Given the description of an element on the screen output the (x, y) to click on. 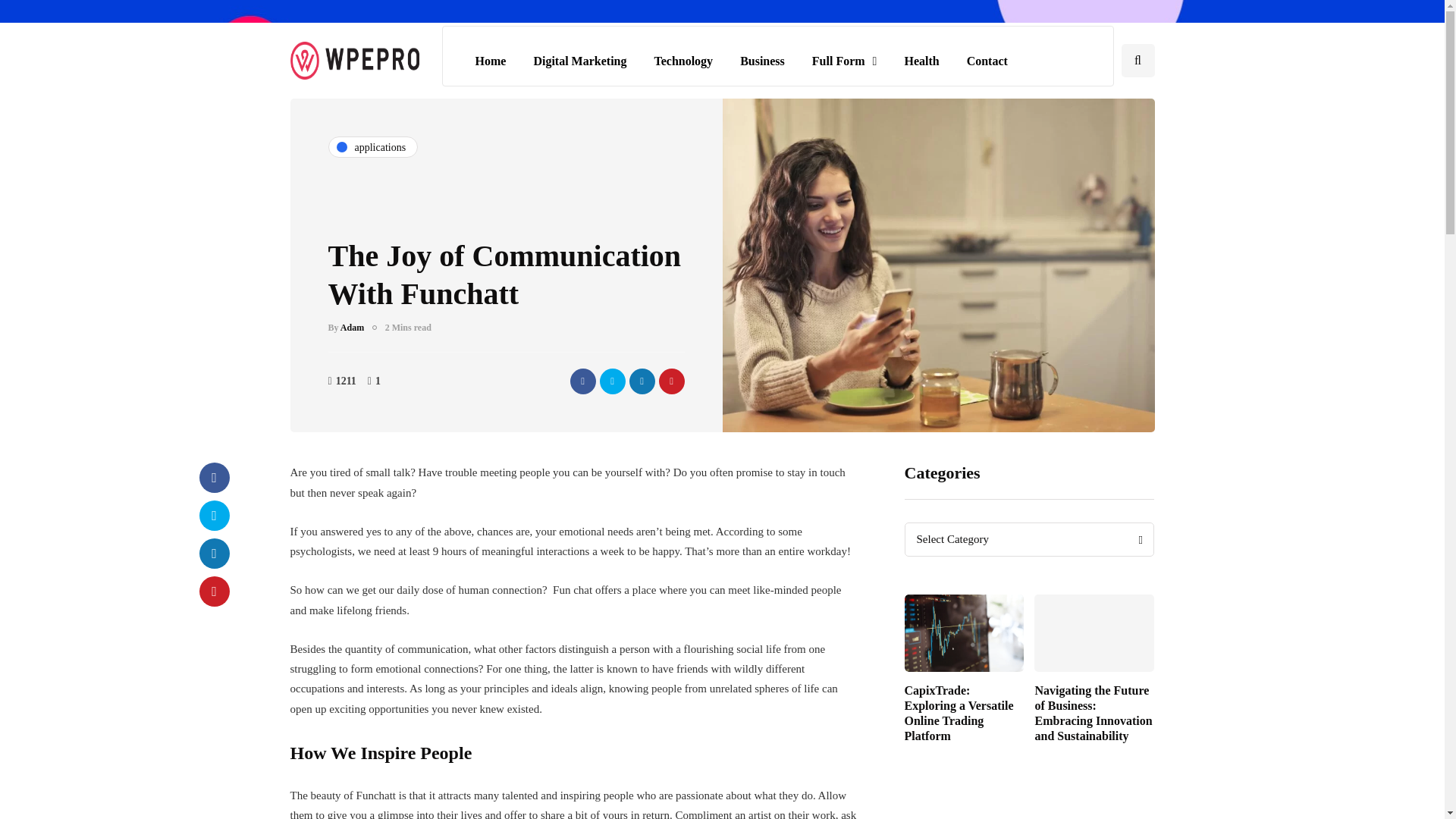
Pin this (671, 380)
Digital Marketing (579, 60)
Full Form (844, 60)
Contact (987, 60)
Technology (683, 60)
Business (761, 60)
Share with LinkedIn (213, 553)
Tweet this (611, 380)
Home (490, 60)
Health (920, 60)
Pin this (213, 591)
Adam (352, 327)
Share with Facebook (213, 477)
Share with LinkedIn (641, 380)
Posts by Adam (352, 327)
